Given the description of an element on the screen output the (x, y) to click on. 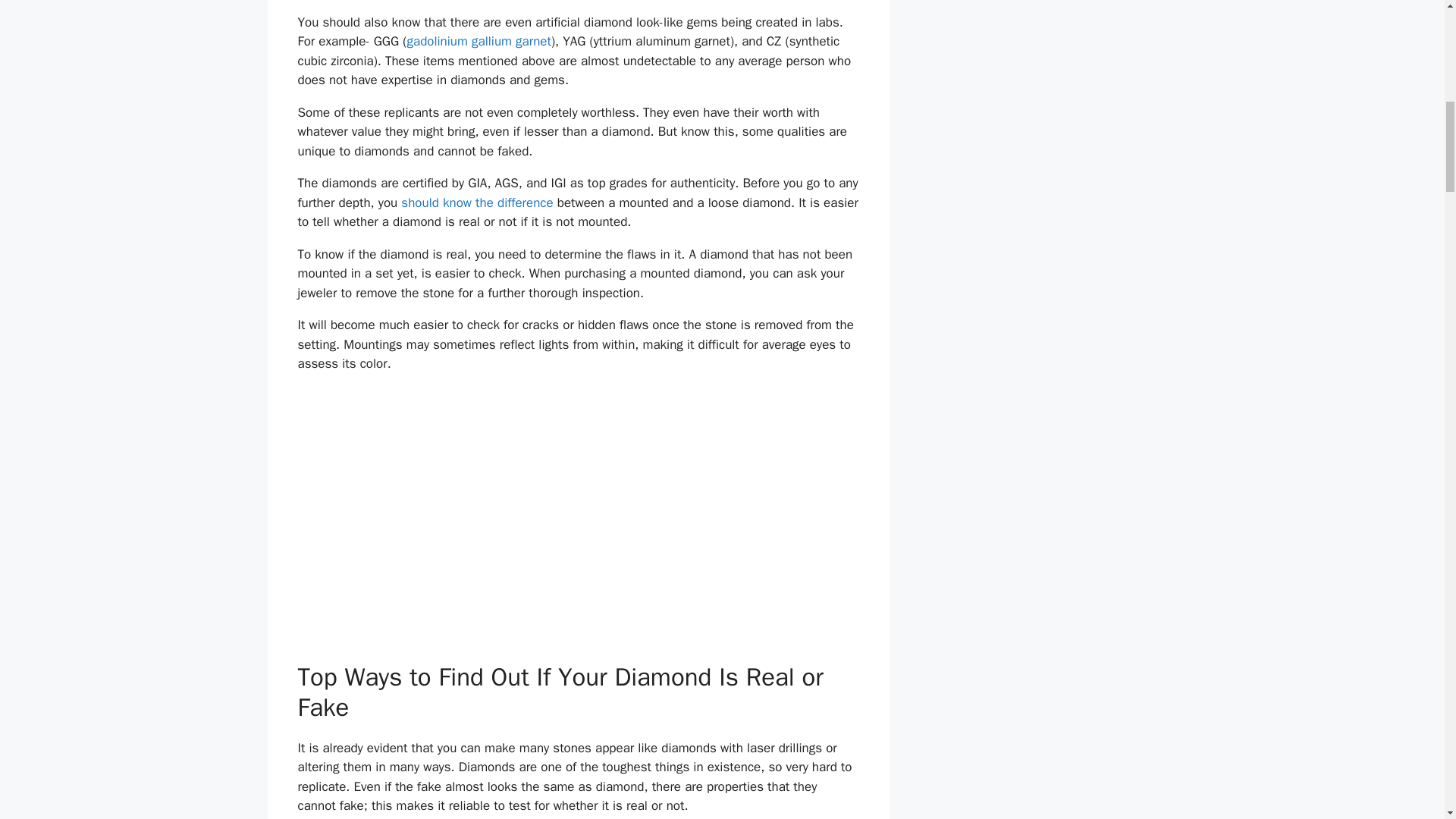
Scroll back to top (1406, 720)
